Given the description of an element on the screen output the (x, y) to click on. 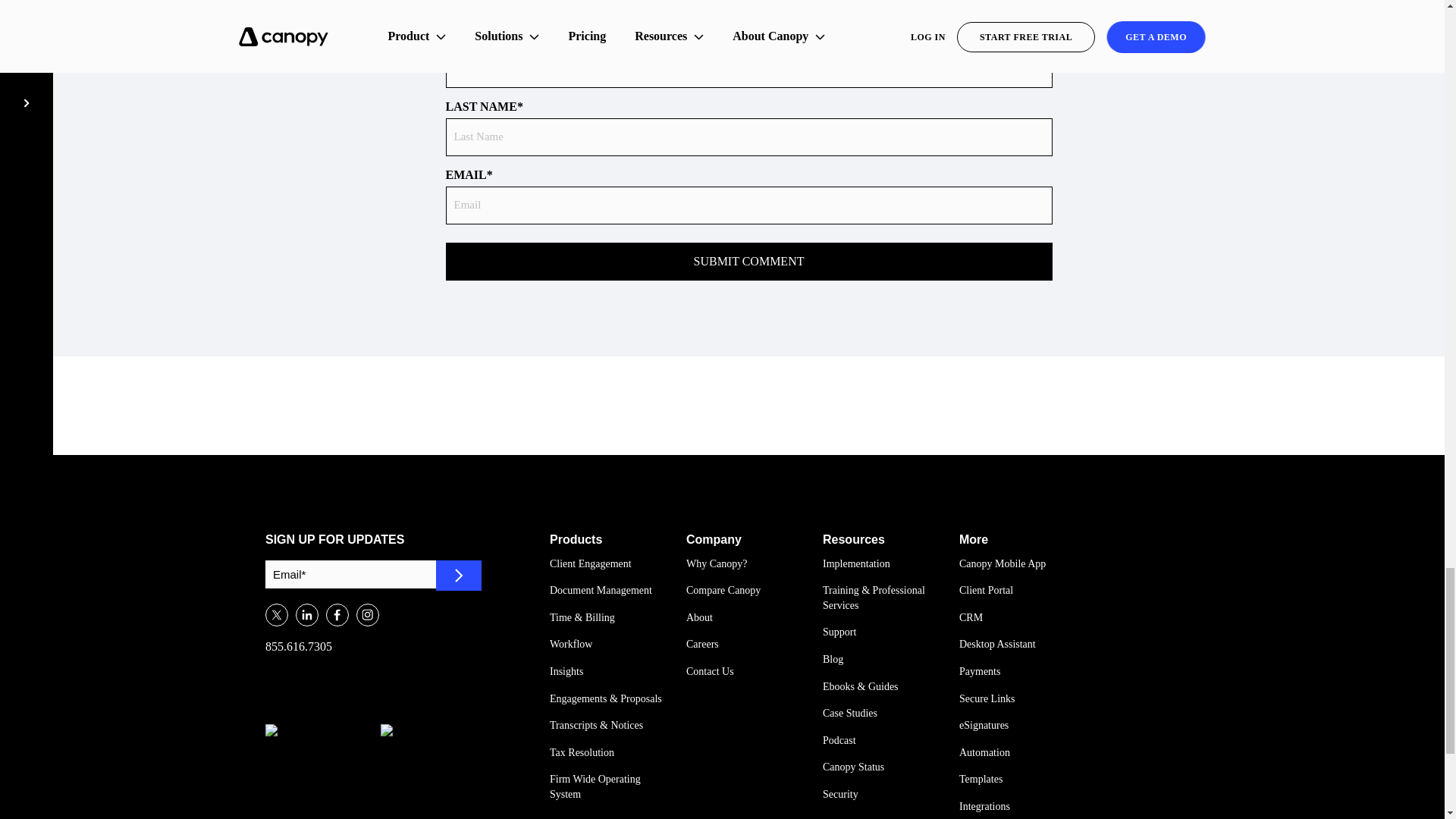
Subscribe (458, 575)
Submit Comment (748, 261)
